Given the description of an element on the screen output the (x, y) to click on. 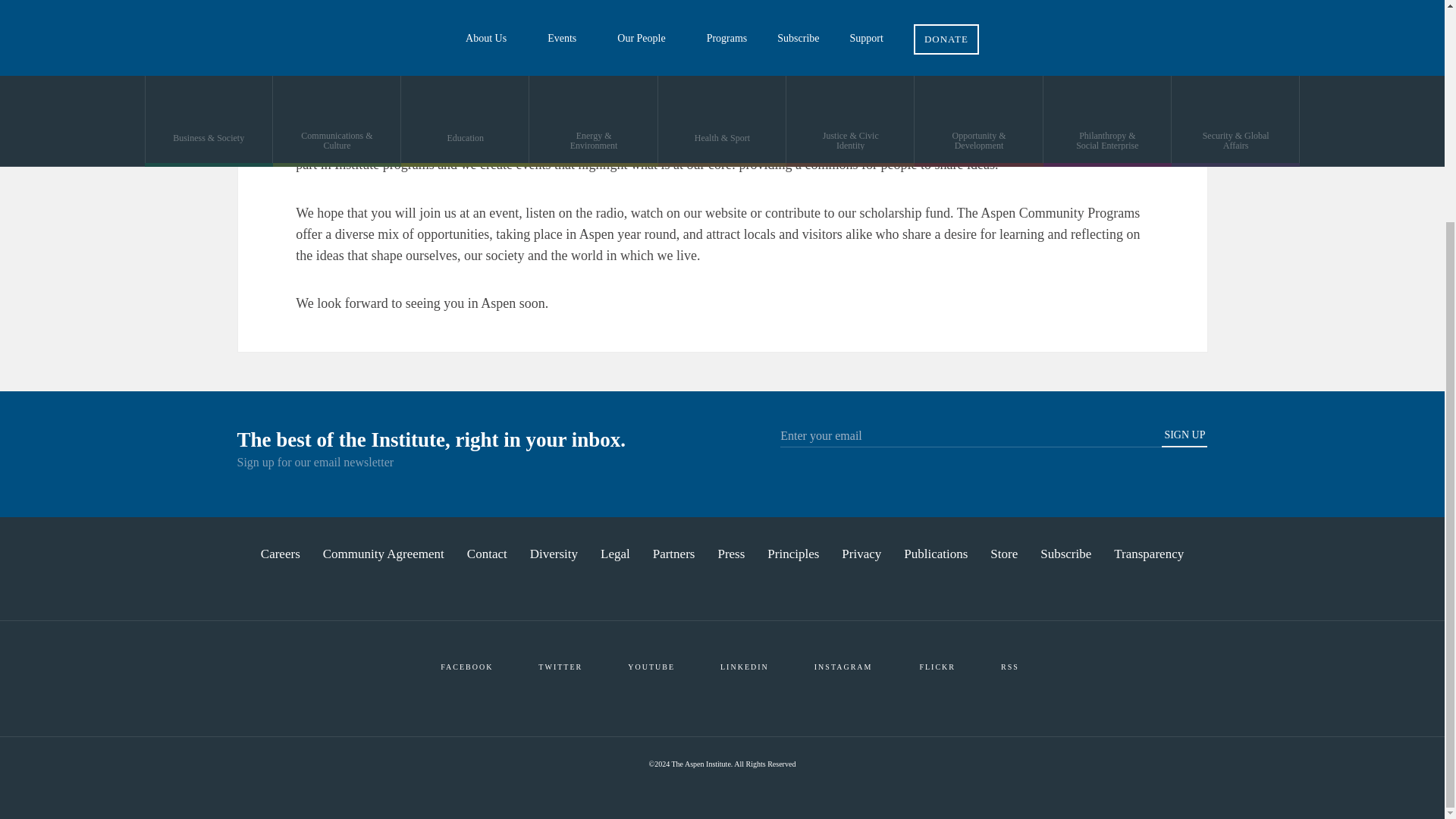
SIGN UP (1184, 438)
